Given the description of an element on the screen output the (x, y) to click on. 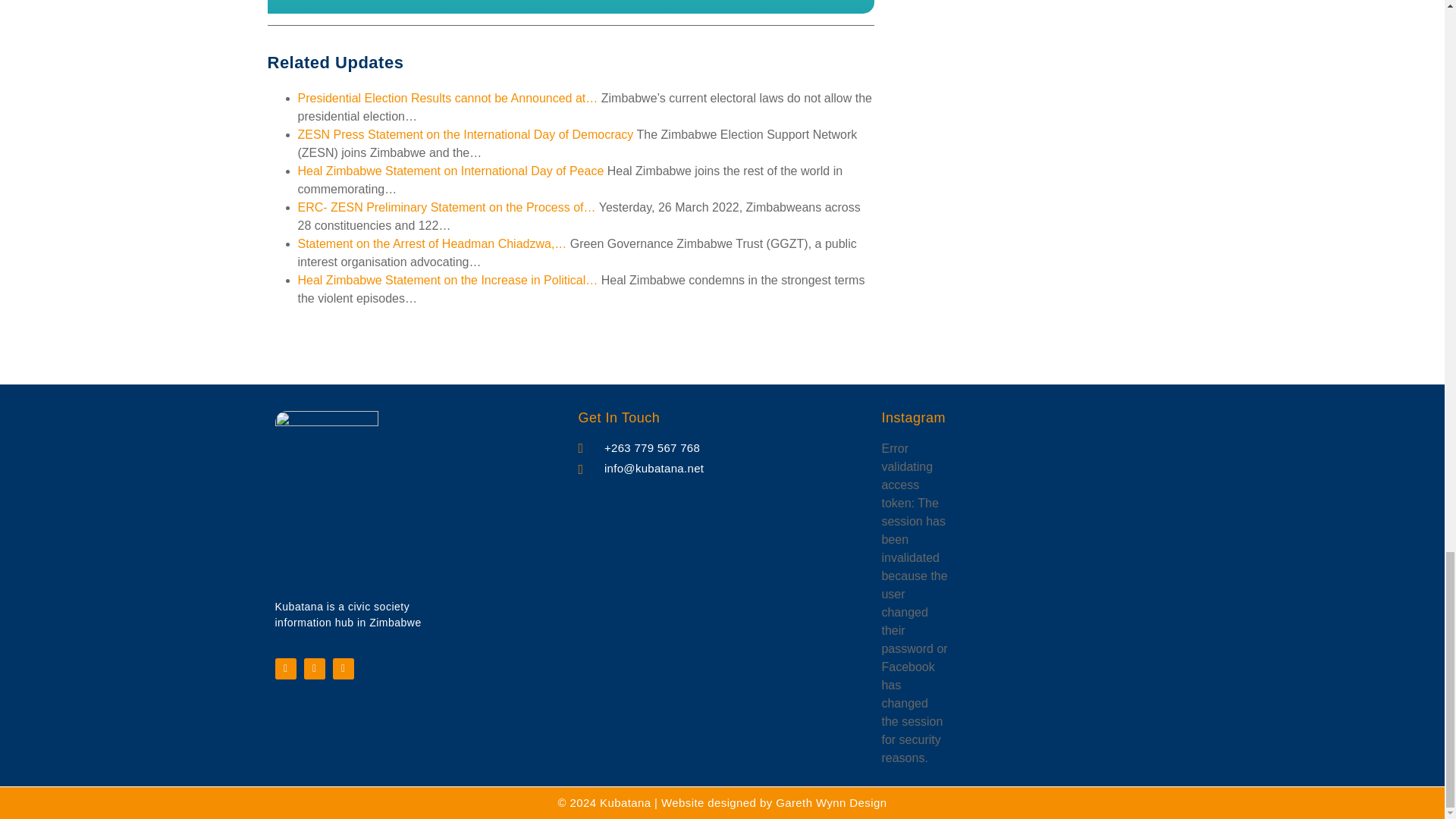
ZESN Press Statement on the International Day of Democracy (465, 133)
Heal Zimbabwe Statement on International Day of Peace (450, 170)
